Given the description of an element on the screen output the (x, y) to click on. 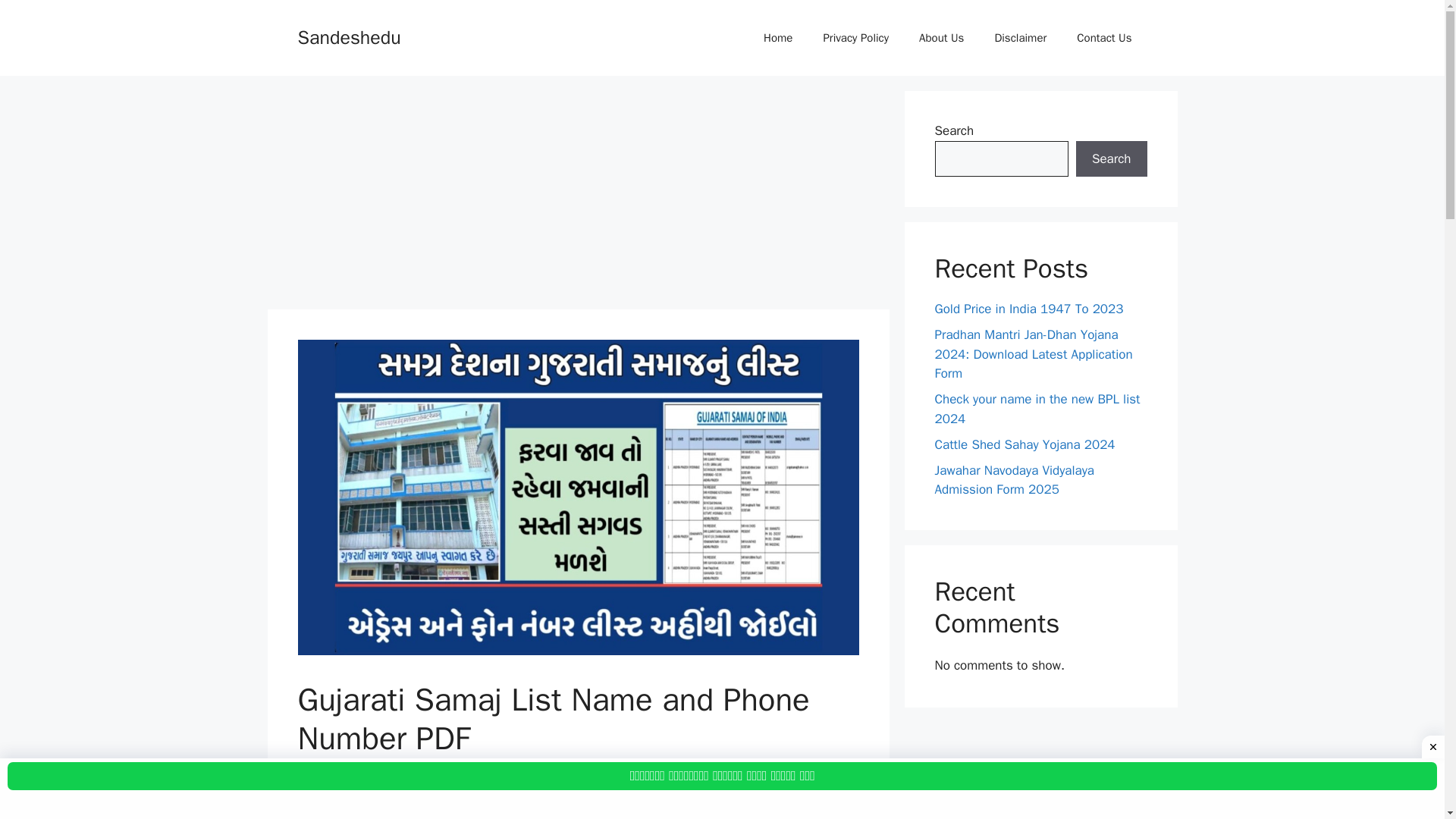
Advertisement (578, 812)
Search (1111, 158)
About Us (941, 37)
Gold Price in India 1947 To 2023 (1028, 308)
Privacy Policy (856, 37)
Home (778, 37)
Advertisement (577, 196)
View all posts by wikiindia.net (413, 770)
Contact Us (1104, 37)
Sandeshedu (348, 37)
Check your name in the new BPL list 2024 (1037, 408)
wikiindia.net (413, 770)
Disclaimer (1019, 37)
Cattle Shed Sahay Yojana 2024 (1024, 444)
